Given the description of an element on the screen output the (x, y) to click on. 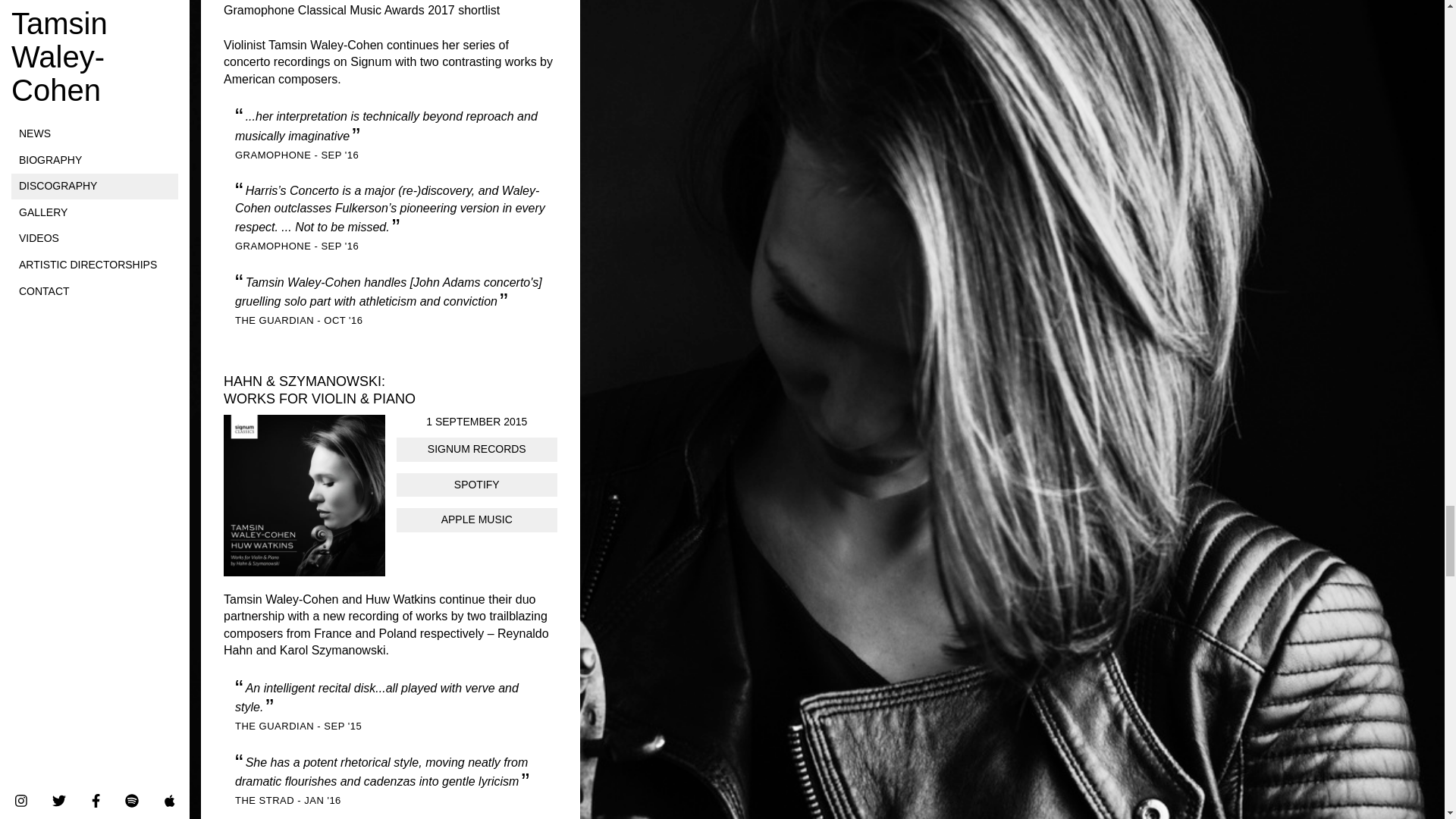
SPOTIFY (476, 485)
SIGNUM RECORDS (476, 449)
